Given the description of an element on the screen output the (x, y) to click on. 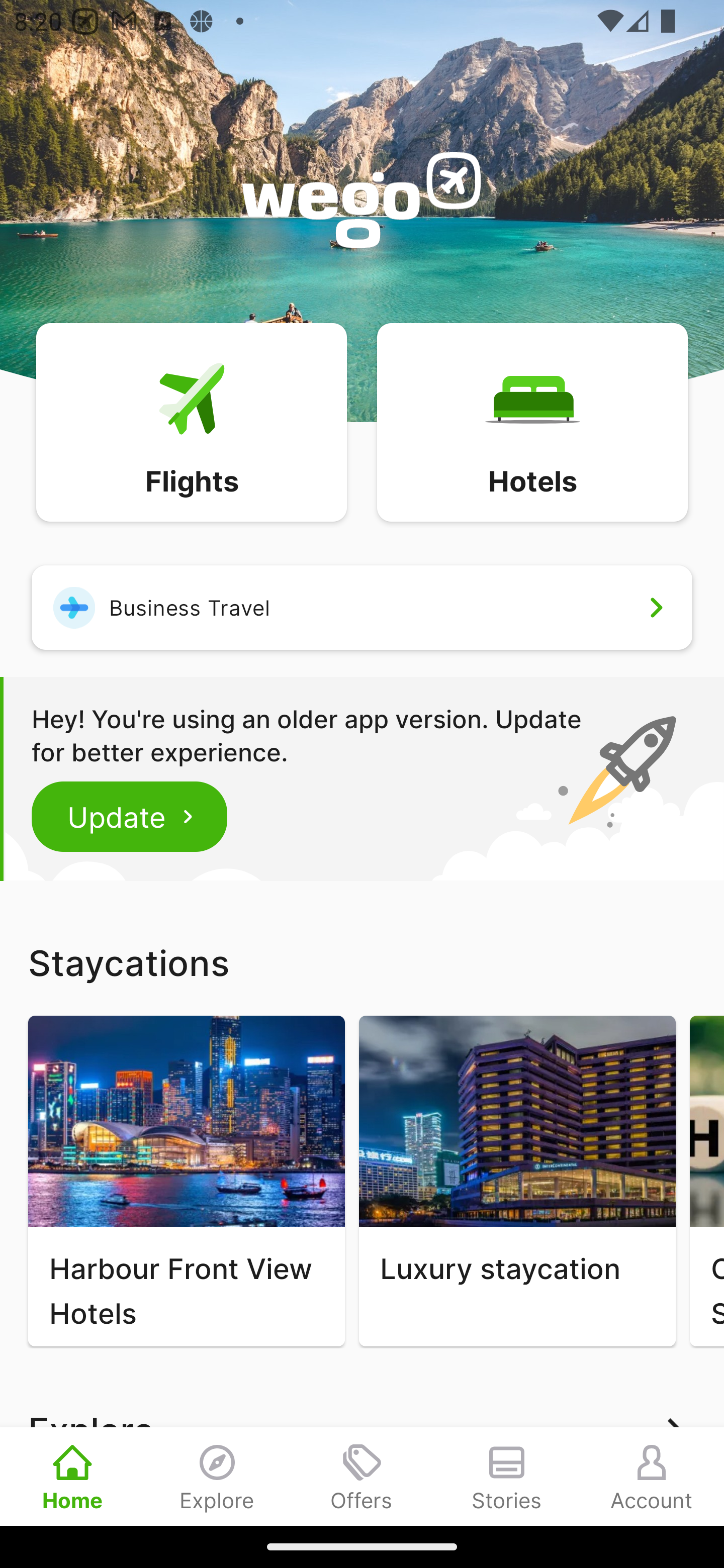
Flights (191, 420)
Hotels (532, 420)
Business Travel (361, 607)
Update (129, 815)
Staycations (362, 962)
Harbour Front View Hotels (186, 1181)
Luxury staycation (517, 1181)
Explore (216, 1475)
Offers (361, 1475)
Stories (506, 1475)
Account (651, 1475)
